Given the description of an element on the screen output the (x, y) to click on. 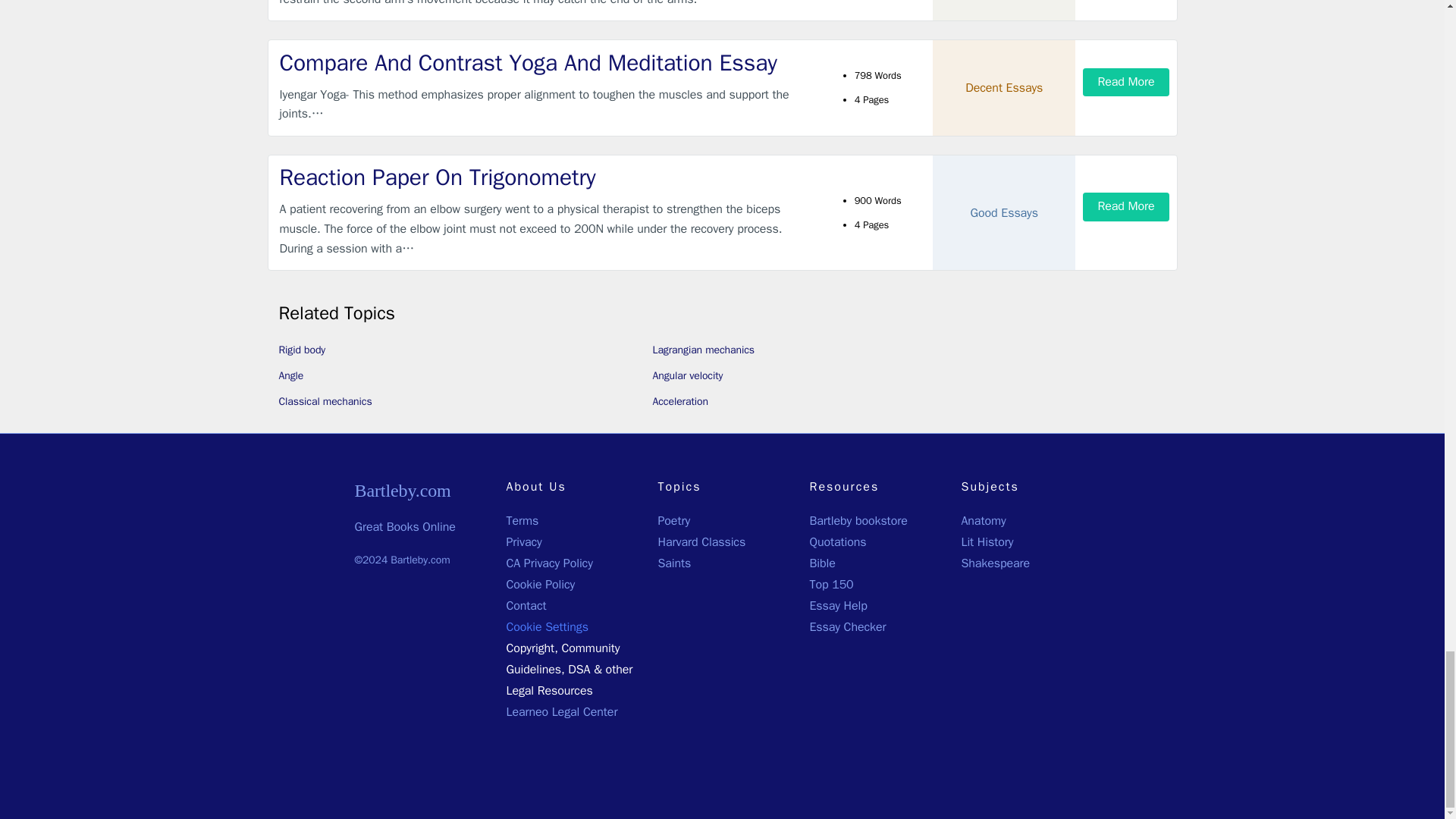
Acceleration (679, 400)
Lagrangian mechanics (703, 349)
Angular velocity (687, 375)
Rigid body (302, 349)
Classical mechanics (325, 400)
Angle (291, 375)
